Given the description of an element on the screen output the (x, y) to click on. 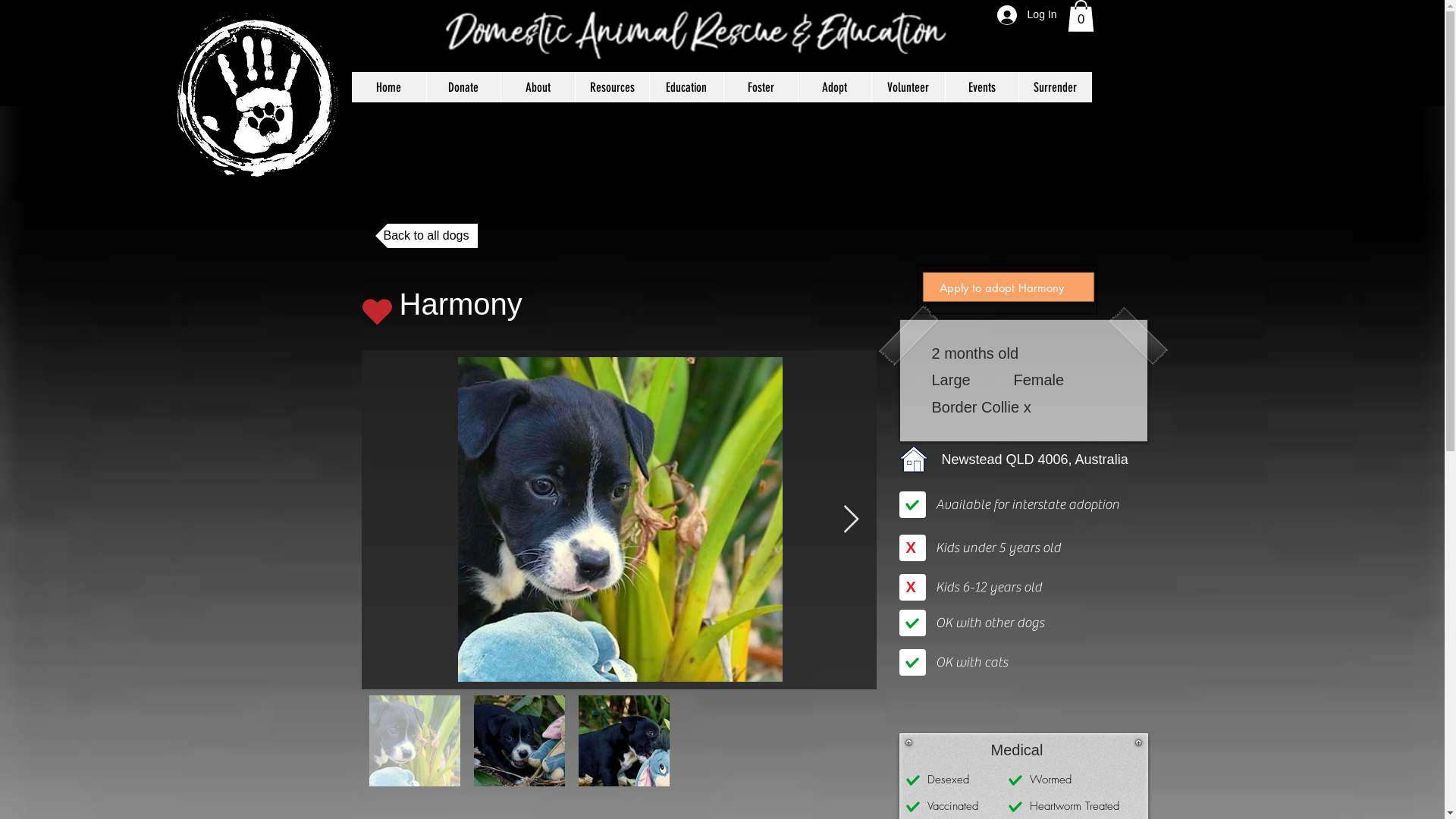
Foster Element type: text (760, 87)
Events Element type: text (981, 87)
Volunteer Element type: text (907, 87)
Surrender Element type: text (1054, 87)
Adopt Element type: text (834, 87)
Back to all dogs Element type: text (425, 235)
Resources Element type: text (611, 87)
0 Element type: text (1080, 15)
Education Element type: text (686, 87)
Donate Element type: text (463, 87)
Log In Element type: text (1026, 14)
Home Element type: text (388, 87)
